Given the description of an element on the screen output the (x, y) to click on. 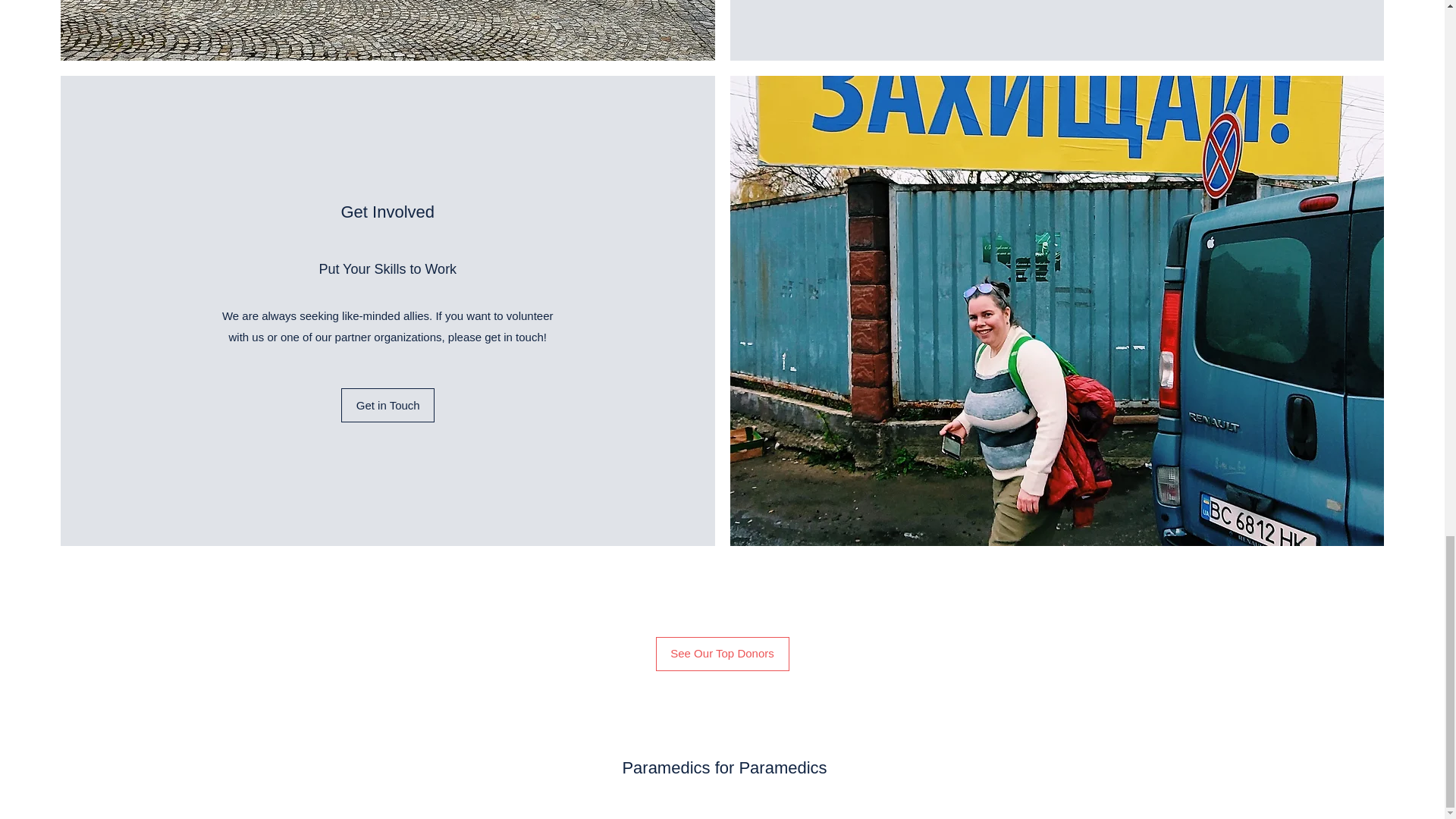
See Our Top Donors (722, 653)
Paramedics for Paramedics (724, 767)
Get in Touch (386, 405)
